Given the description of an element on the screen output the (x, y) to click on. 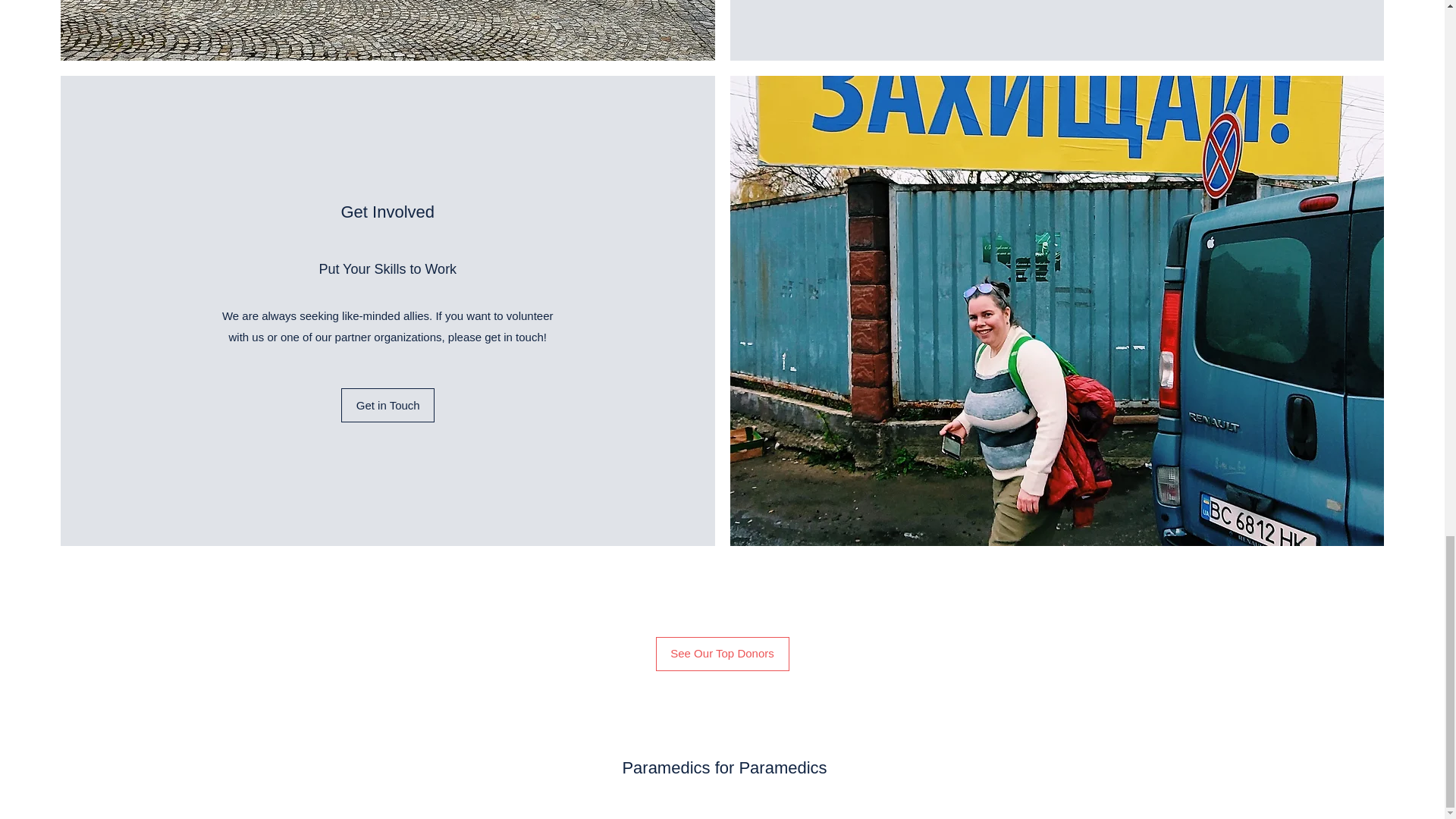
See Our Top Donors (722, 653)
Paramedics for Paramedics (724, 767)
Get in Touch (386, 405)
